Given the description of an element on the screen output the (x, y) to click on. 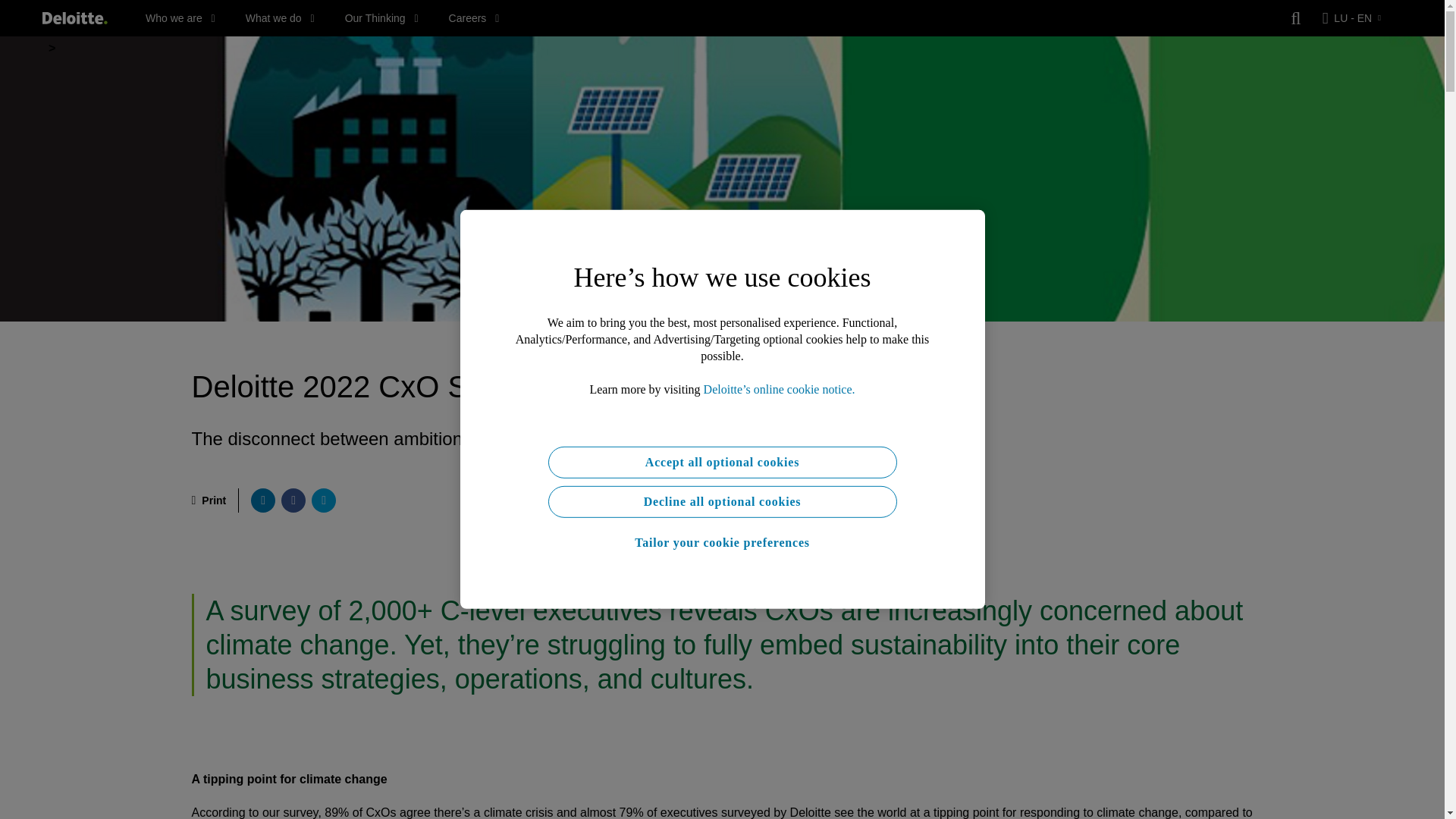
linkedin (262, 500)
facebook (293, 500)
Who we are (180, 18)
What we do (280, 18)
Print (207, 500)
Careers (473, 18)
Our Thinking (382, 18)
share via... (323, 500)
Deloitte (74, 18)
